Given the description of an element on the screen output the (x, y) to click on. 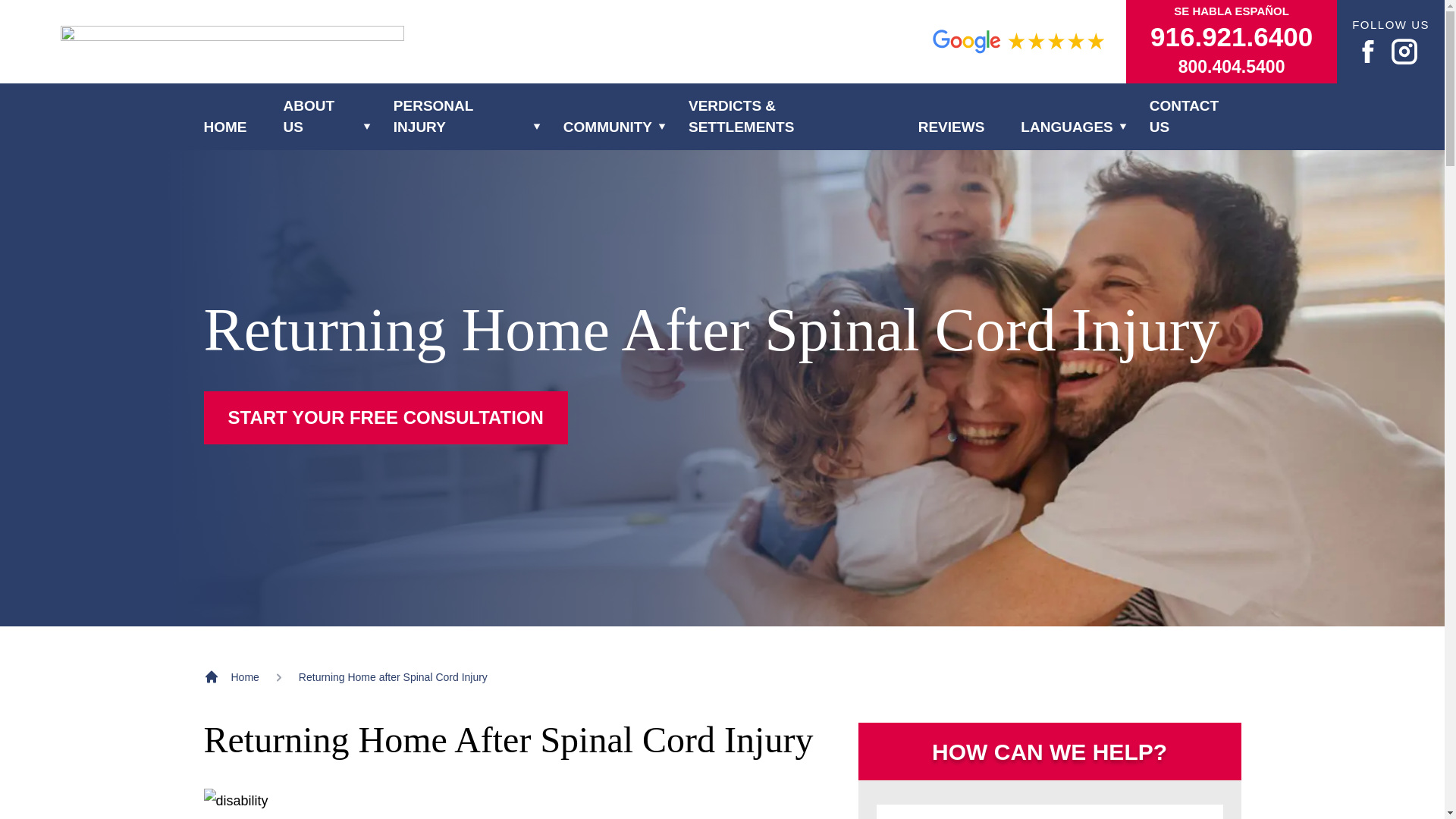
HOME (224, 126)
REVIEWS (951, 126)
ABOUT US (319, 116)
COMMUNITY (607, 126)
800.404.5400 (1231, 67)
916.921.6400 (1231, 37)
LANGUAGES (1066, 126)
CONTACT US (1195, 116)
PERSONAL INJURY (460, 116)
